Given the description of an element on the screen output the (x, y) to click on. 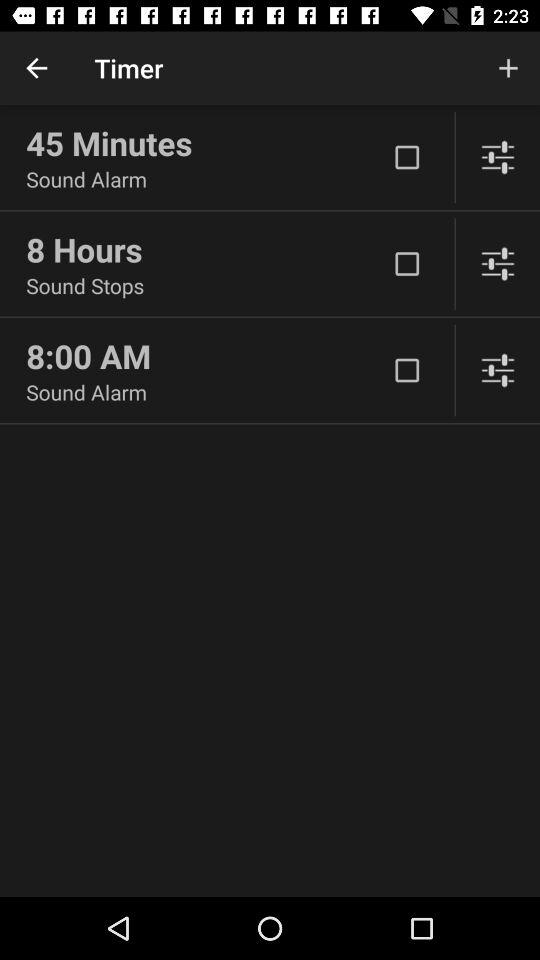
press icon above the sound stops (206, 249)
